Given the description of an element on the screen output the (x, y) to click on. 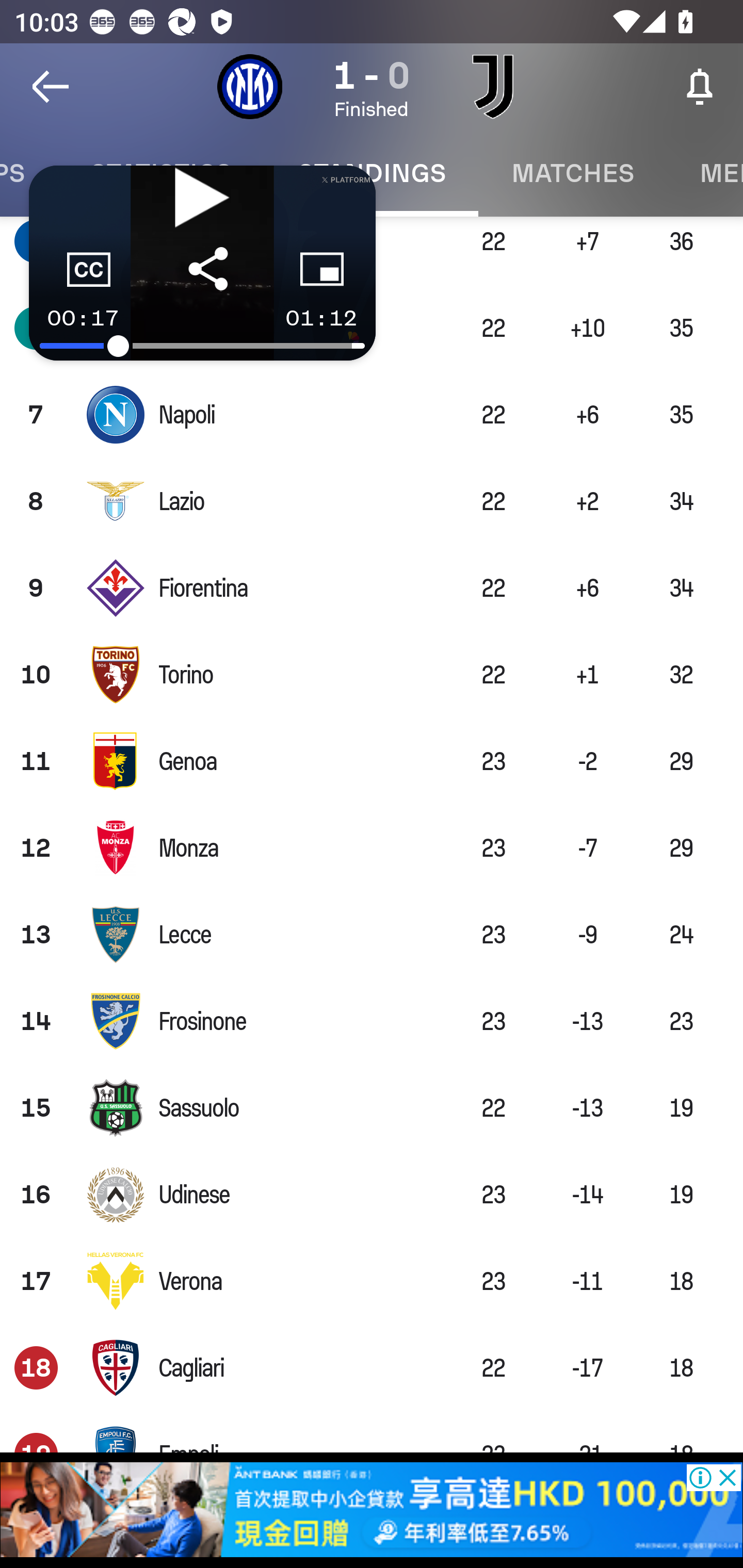
Navigate up (50, 86)
Matches MATCHES (572, 173)
7 Napoli 22 +6 35 (371, 414)
7 (36, 414)
8 Lazio 22 +2 34 (371, 500)
8 (36, 500)
9 Fiorentina 22 +6 34 (371, 587)
9 (36, 587)
10 Torino 22 +1 32 (371, 674)
10 (36, 674)
11 Genoa 23 -2 29 (371, 761)
11 (36, 761)
12 Monza 23 -7 29 (371, 847)
12 (36, 847)
13 Lecce 23 -9 24 (371, 934)
13 (36, 934)
14 Frosinone 23 -13 23 (371, 1021)
14 (36, 1021)
15 Sassuolo 22 -13 19 (371, 1107)
15 (36, 1107)
16 Udinese 23 -14 19 (371, 1193)
16 (36, 1193)
17 Verona 23 -11 18 (371, 1280)
17 (36, 1280)
18 Cagliari 22 -17 18 (371, 1367)
18 (36, 1367)
